Given the description of an element on the screen output the (x, y) to click on. 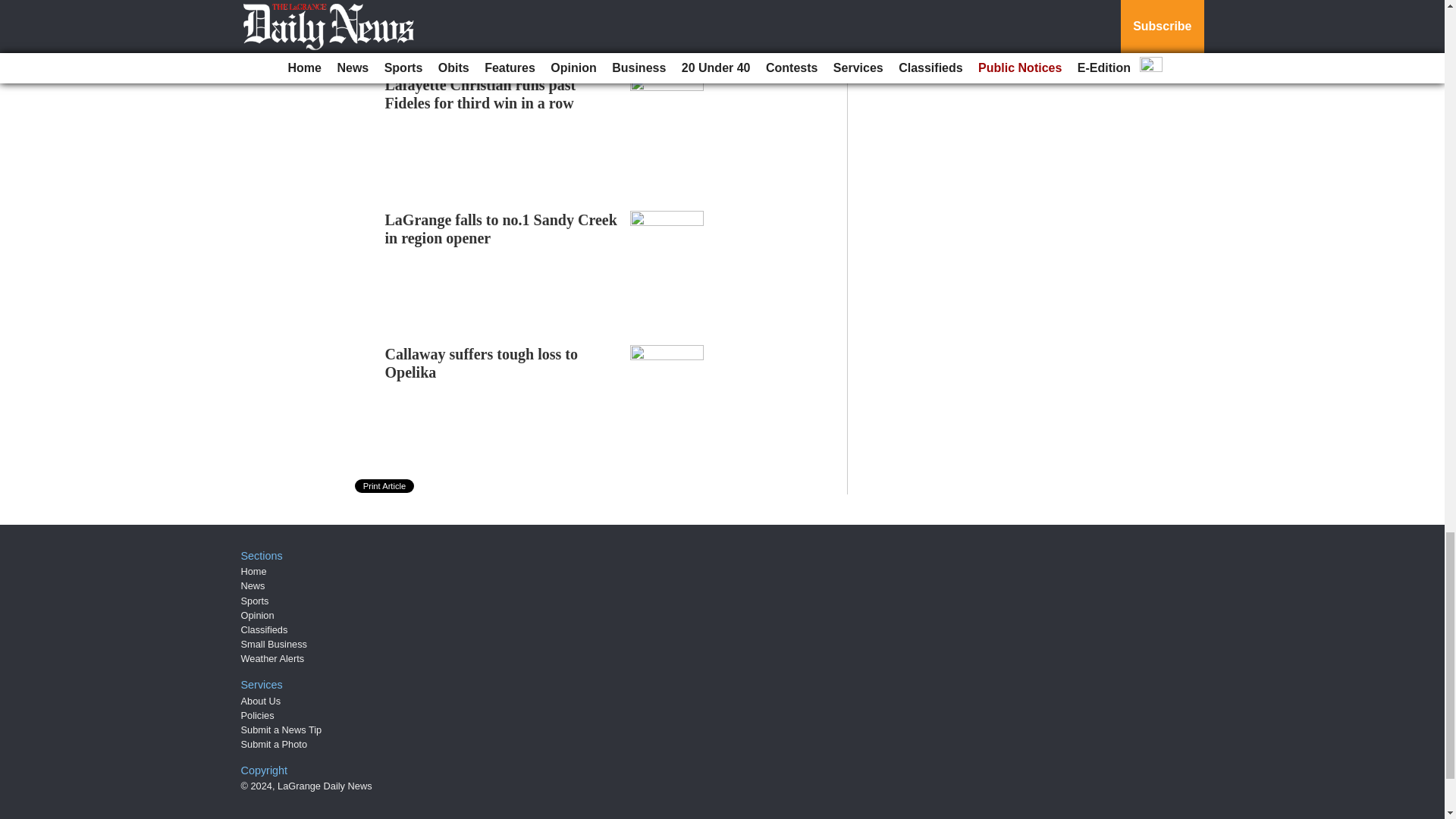
Lafayette Christian runs past Fideles for third win in a row (480, 93)
Callaway suffers tough loss to Opelika (481, 362)
LaGrange falls to no.1 Sandy Creek in region opener (501, 228)
Callaway suffers tough loss to Opelika (481, 362)
LaGrange falls to no.1 Sandy Creek in region opener (501, 228)
Lafayette Christian runs past Fideles for third win in a row (480, 93)
Print Article (384, 486)
